Given the description of an element on the screen output the (x, y) to click on. 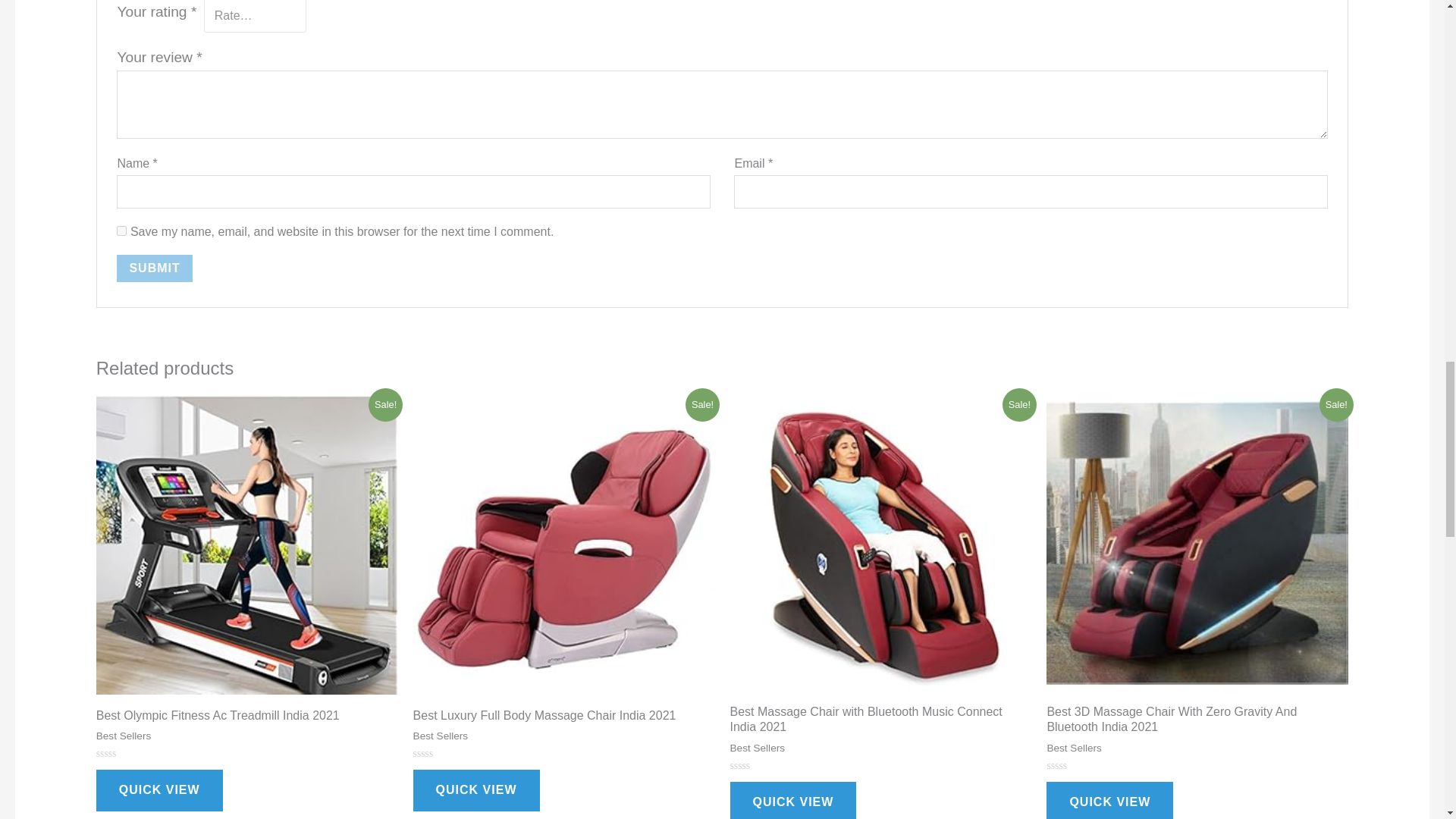
Best Massage Chair with Bluetooth Music Connect India 2021 (879, 723)
Best Luxury Full Body Massage Chair India 2021 (563, 719)
QUICK VIEW (476, 790)
QUICK VIEW (159, 790)
Submit (154, 267)
Best Olympic Fitness Ac Treadmill India 2021 (246, 719)
yes (121, 230)
Submit (154, 267)
